Given the description of an element on the screen output the (x, y) to click on. 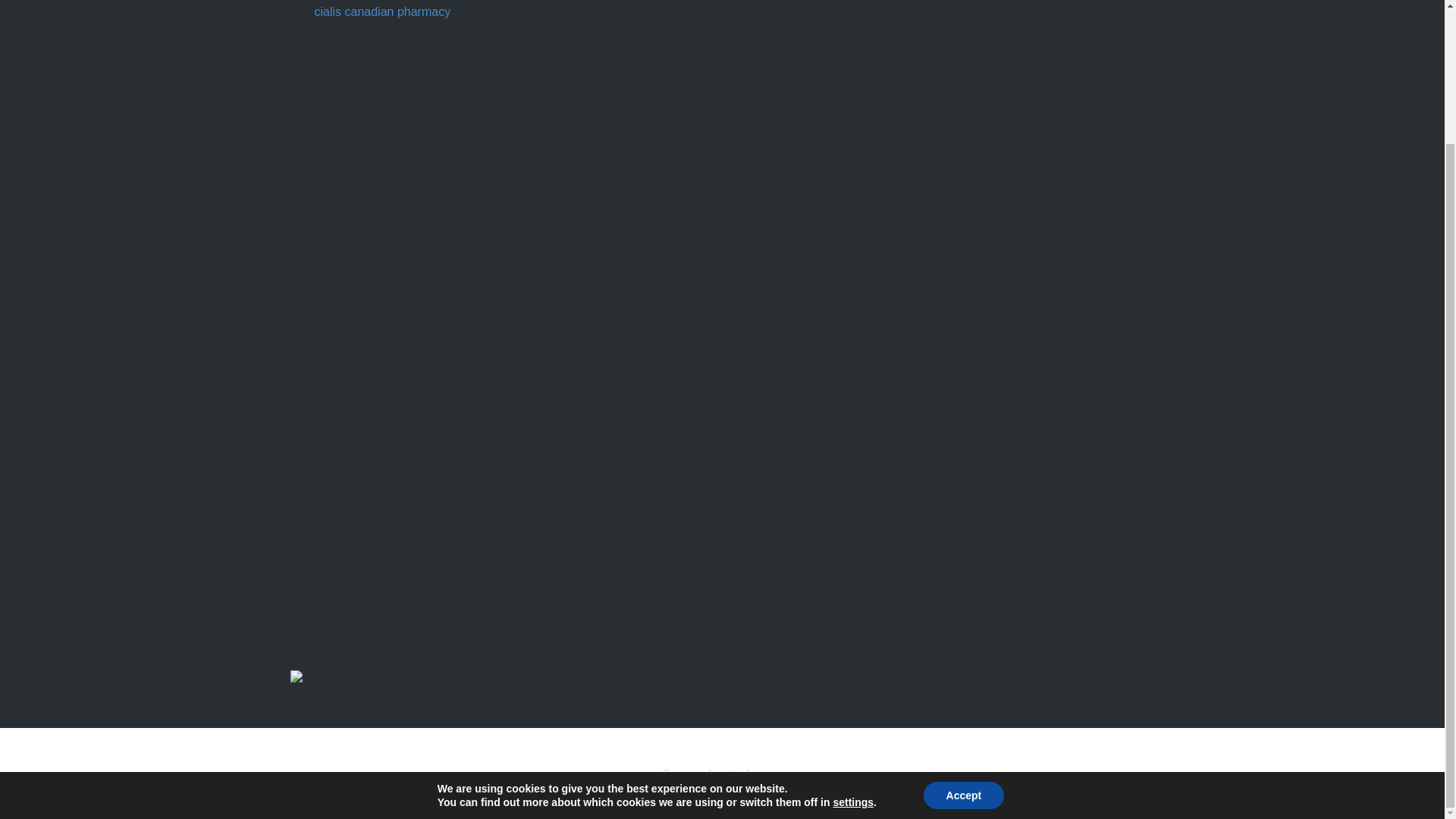
settings (852, 638)
Accept (963, 631)
cialis canadian pharmacy (382, 11)
